Given the description of an element on the screen output the (x, y) to click on. 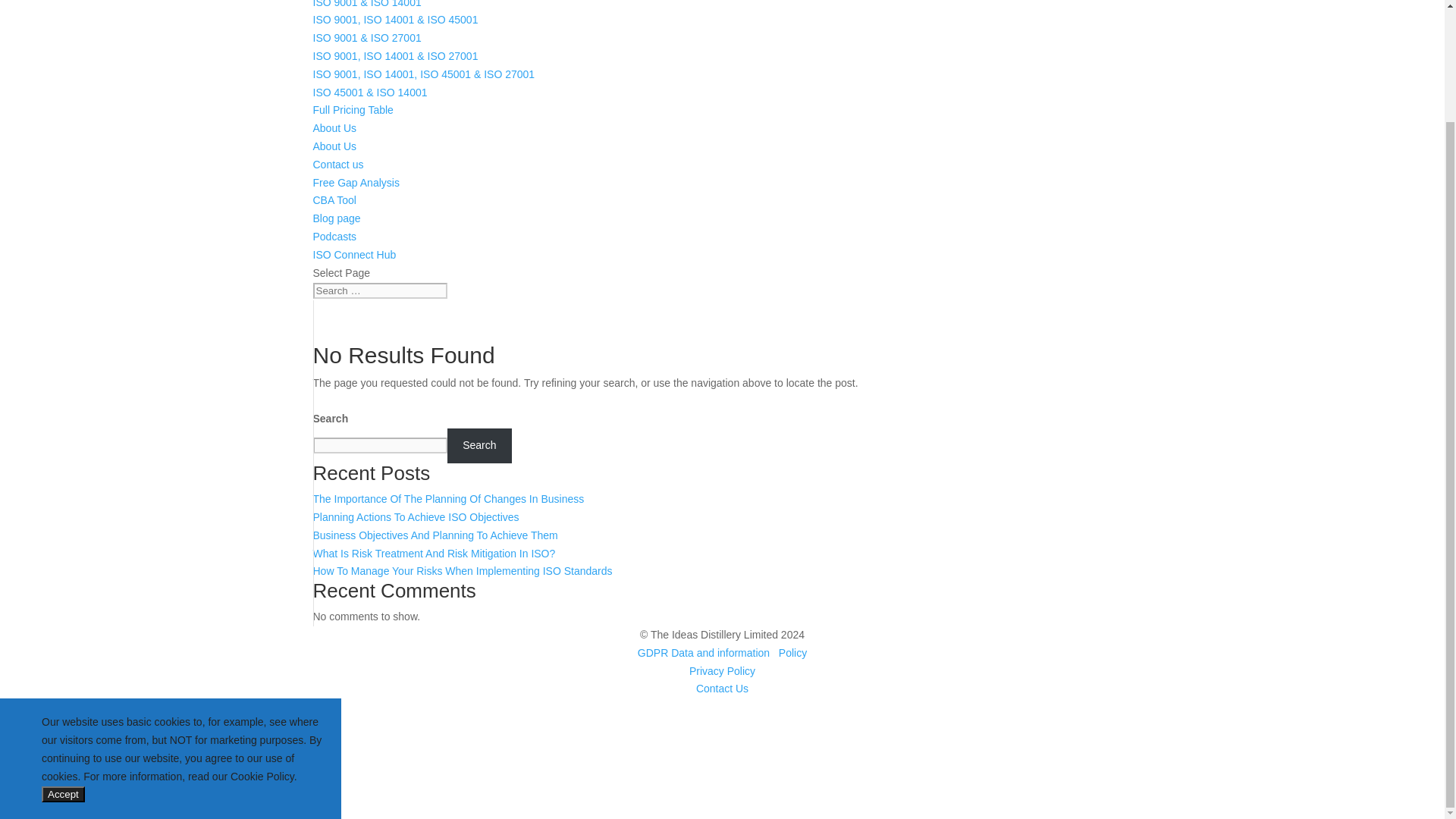
What Is Risk Treatment And Risk Mitigation In ISO? (433, 553)
Contact us (337, 164)
The Importance Of The Planning Of Changes In Business (448, 499)
Accept (63, 794)
Planning Actions To Achieve ISO Objectives (415, 517)
Free Gap Analysis (355, 182)
ISO Connect Hub (354, 254)
Cookie Policy (262, 776)
About Us (334, 128)
Contact Us (721, 688)
Business Objectives And Planning To Achieve Them (435, 535)
GDPR Data and information   Policy (721, 653)
Search (479, 445)
Podcasts (334, 236)
About Us (334, 146)
